Given the description of an element on the screen output the (x, y) to click on. 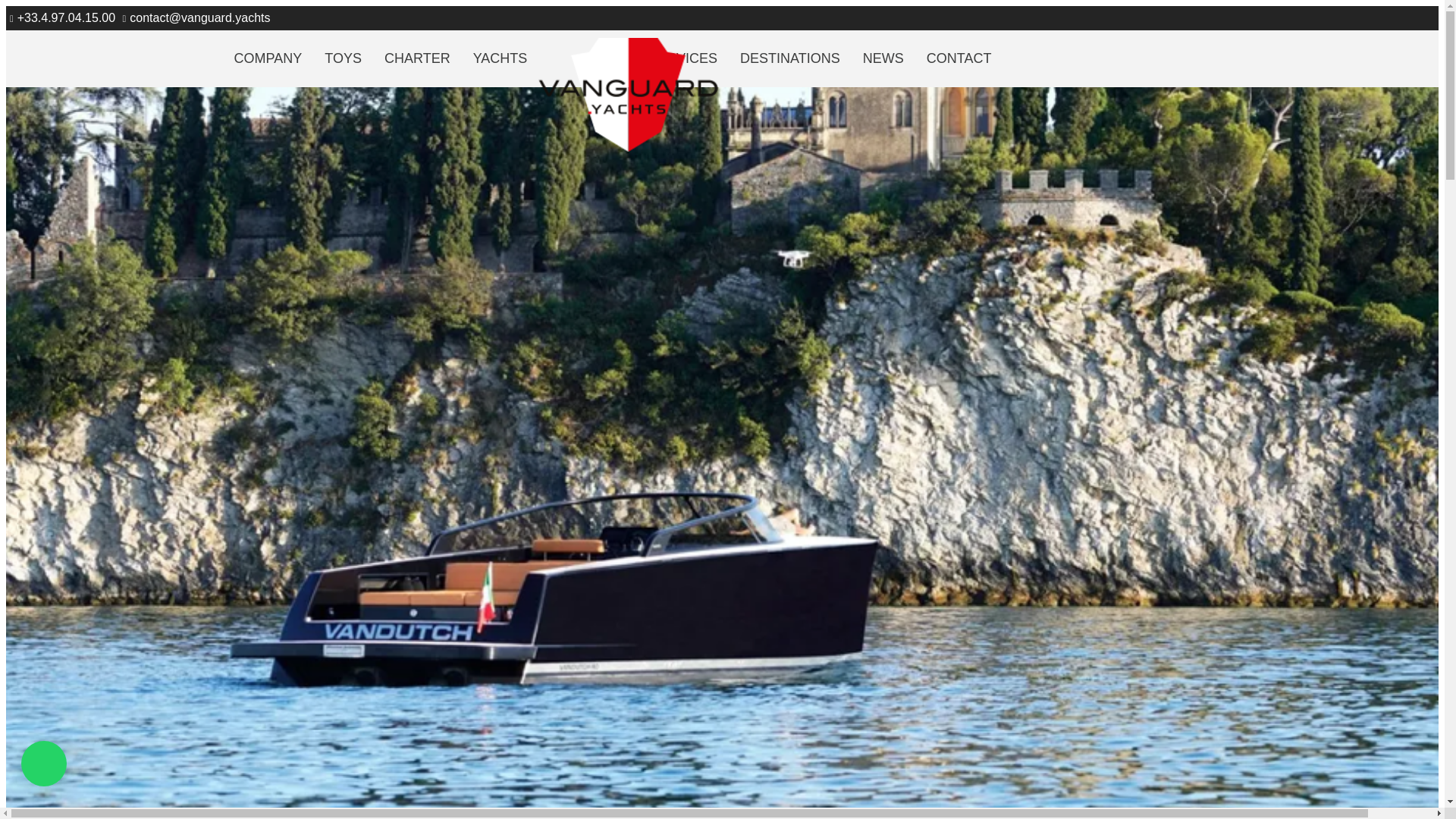
DESTINATIONS (789, 58)
CHARTER (416, 58)
CONTACT (958, 58)
YACHTS (500, 58)
SERVICES (682, 58)
COMPANY (268, 58)
